Given the description of an element on the screen output the (x, y) to click on. 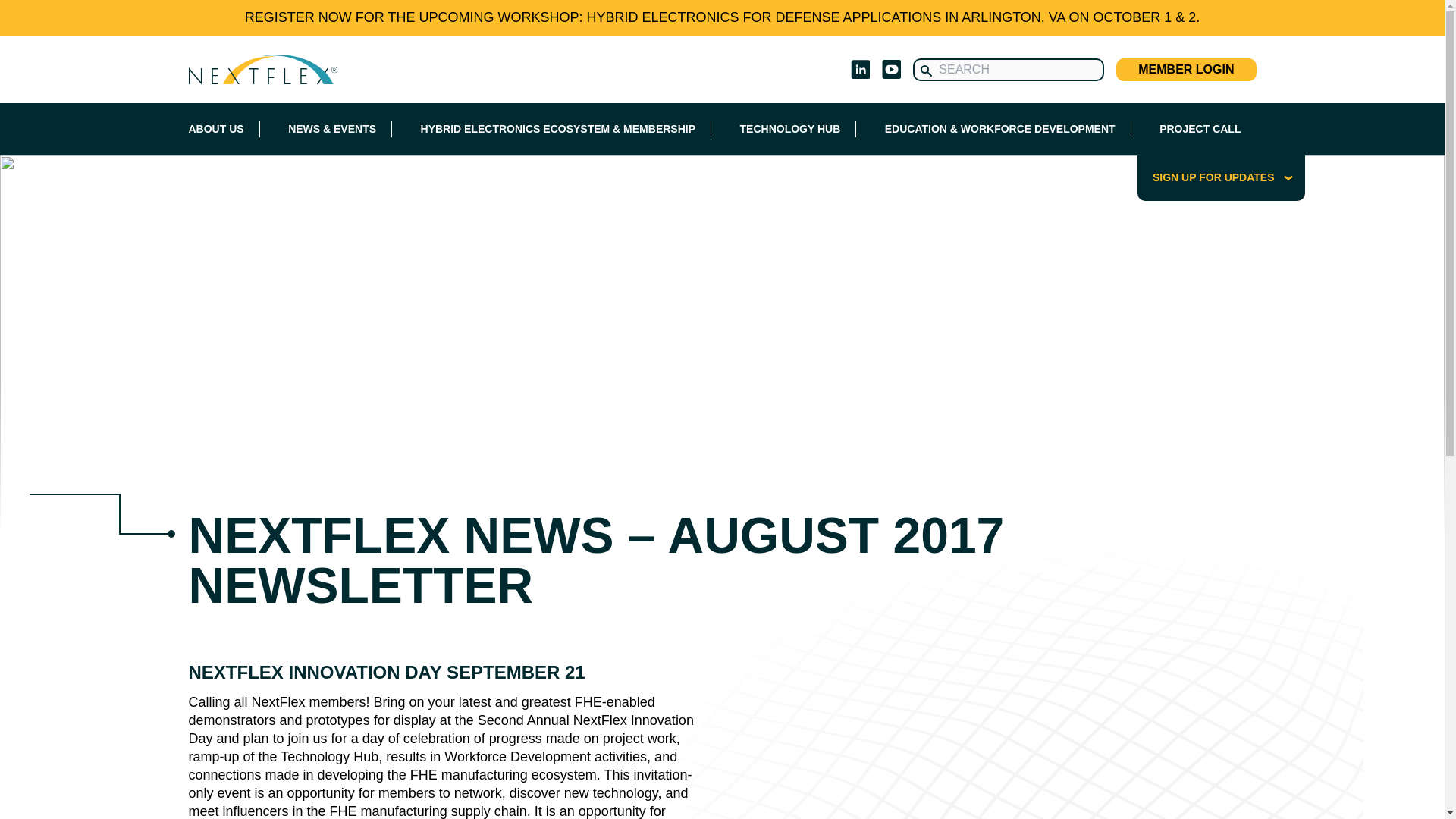
PROJECT CALL (1199, 129)
ABOUT US (215, 129)
TECHNOLOGY HUB (790, 129)
MEMBER LOGIN (1185, 69)
